Given the description of an element on the screen output the (x, y) to click on. 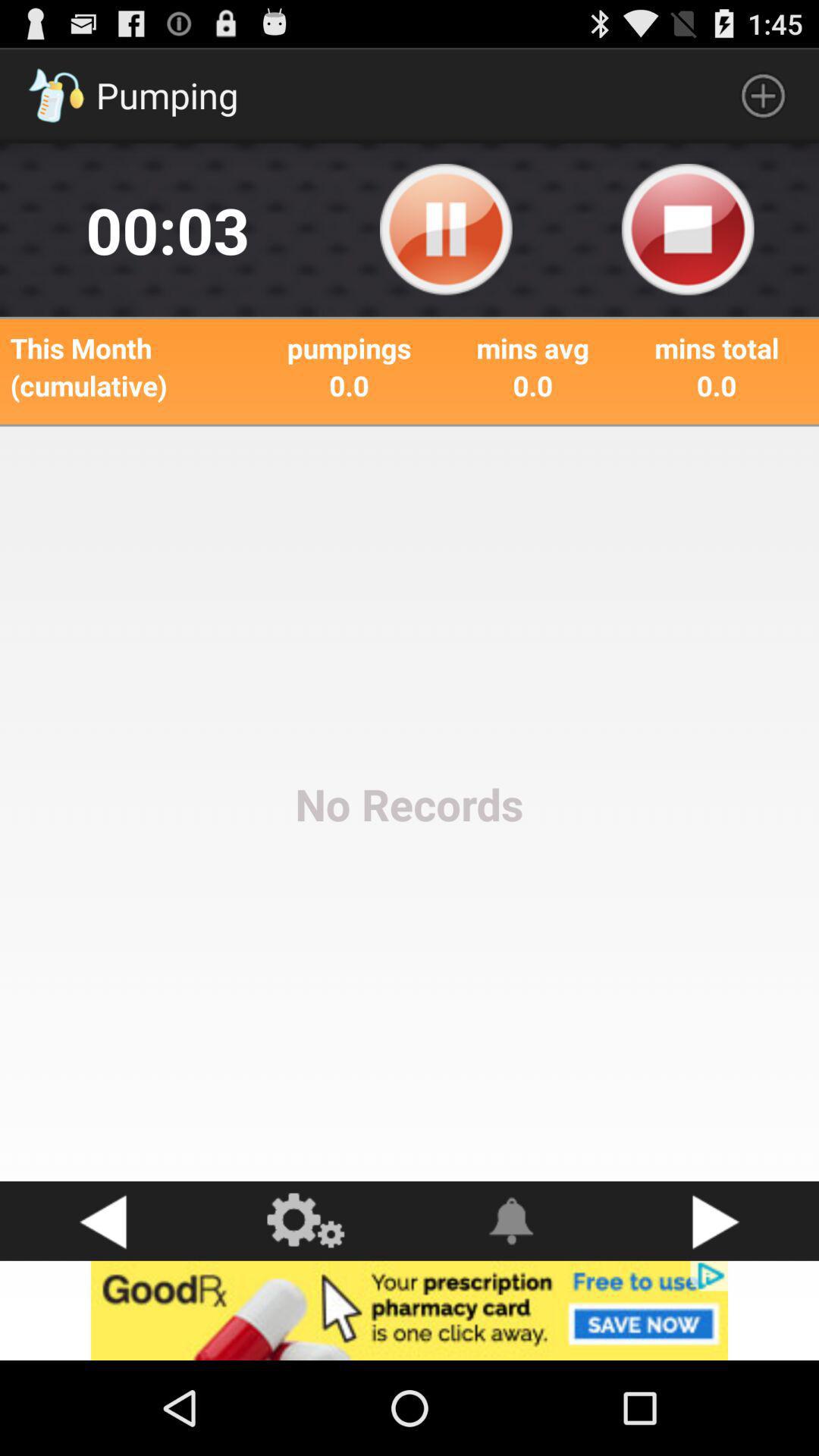
switch power option (687, 229)
